Given the description of an element on the screen output the (x, y) to click on. 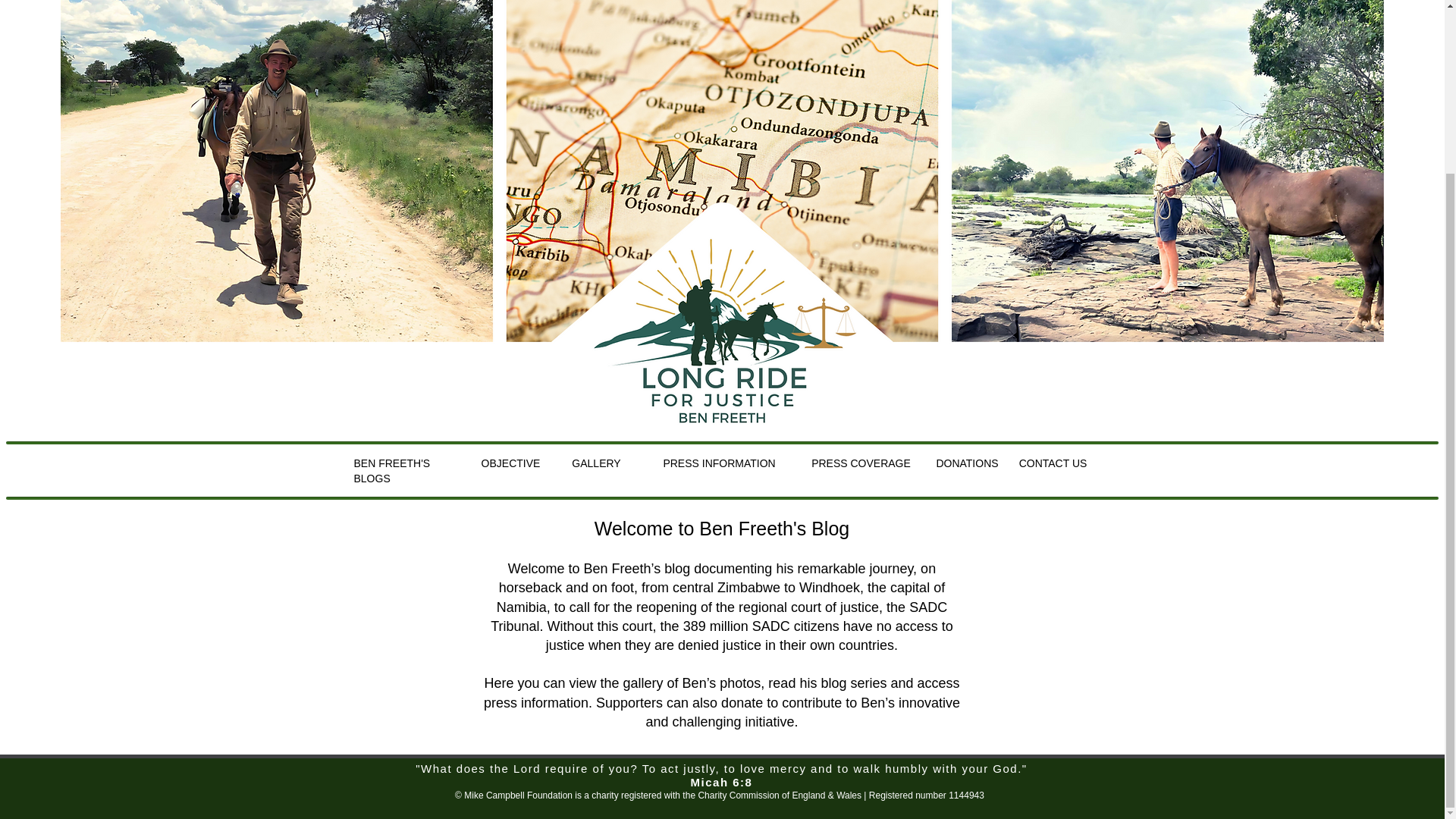
DONATIONS (966, 463)
BEN FREETH'S BLOGS  (391, 470)
GALLERY (596, 463)
PRESS COVERAGE (860, 463)
CONTACT US (1053, 463)
OBJECTIVE (510, 463)
PRESS INFORMATION  (719, 463)
